Given the description of an element on the screen output the (x, y) to click on. 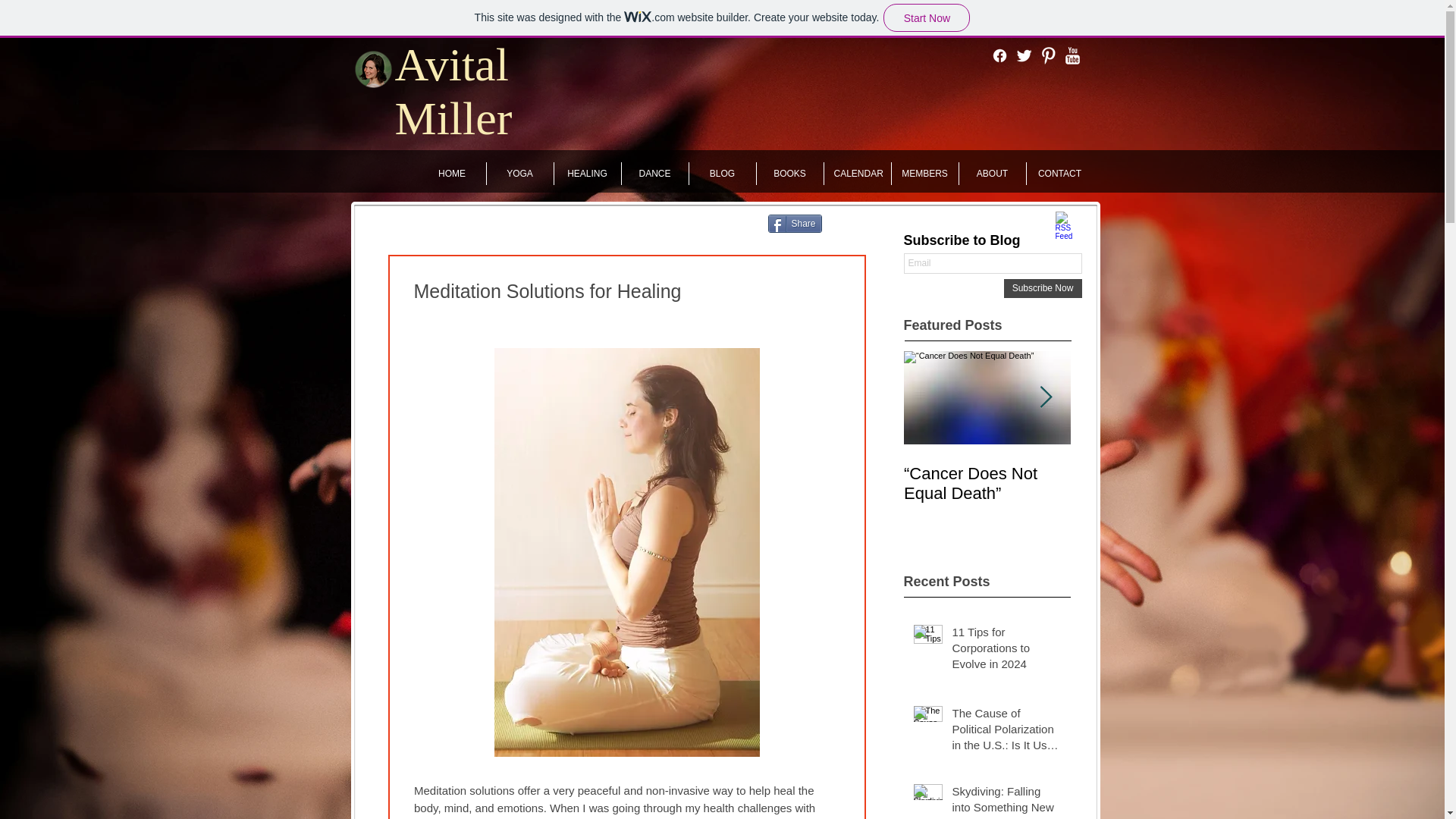
BLOG (721, 173)
BOOKS (790, 173)
CONTACT (1059, 173)
Share (794, 223)
RSS Feed (1068, 224)
favicon-feather-transparent.png (372, 68)
CALENDAR (856, 173)
HEALING (586, 173)
Share (794, 223)
ABOUT (991, 173)
Twitter Tweet (858, 222)
MEMBERS (924, 173)
DANCE (654, 173)
YOGA (519, 173)
HOME (452, 173)
